Given the description of an element on the screen output the (x, y) to click on. 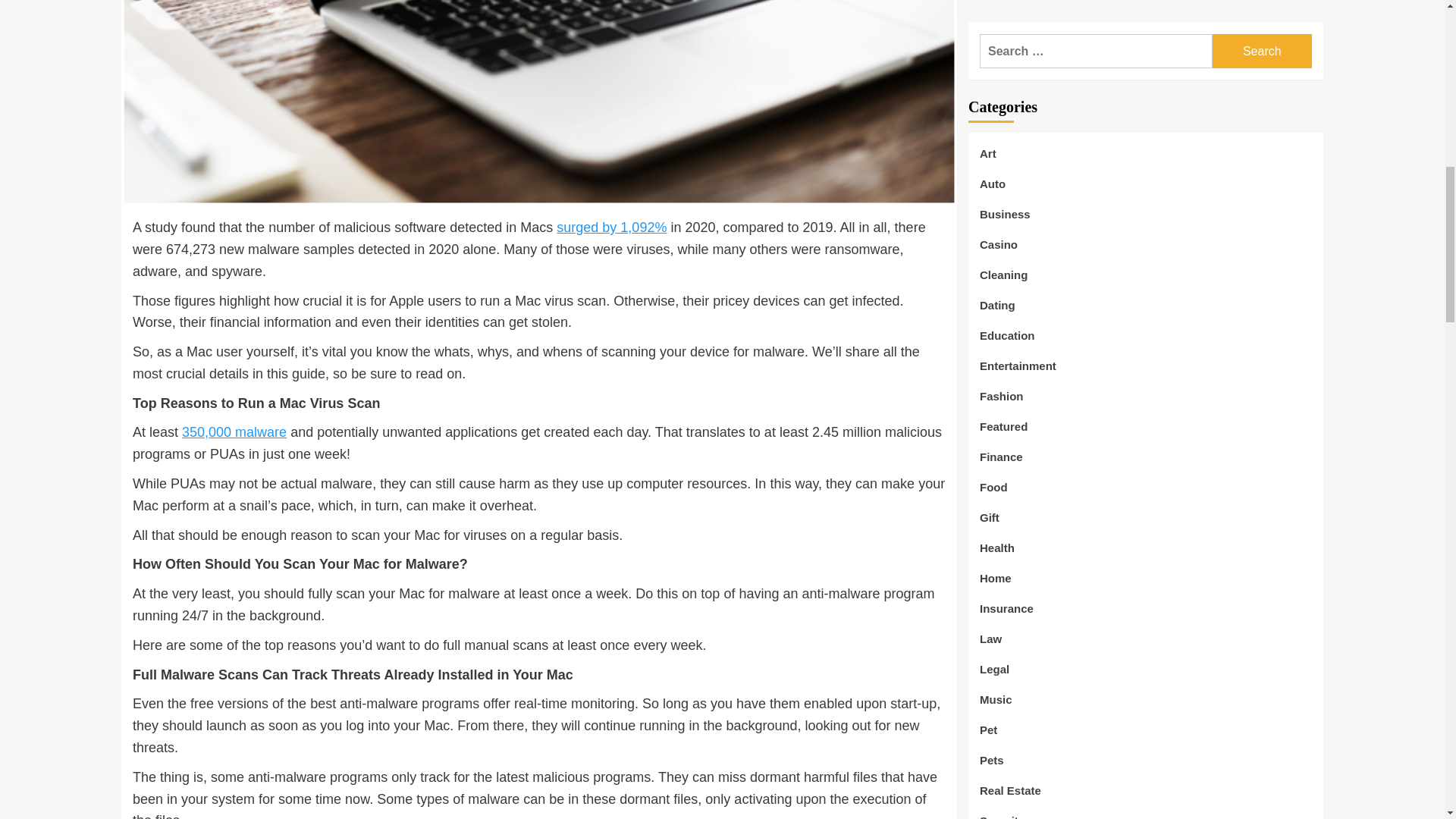
350,000 malware (234, 432)
